Given the description of an element on the screen output the (x, y) to click on. 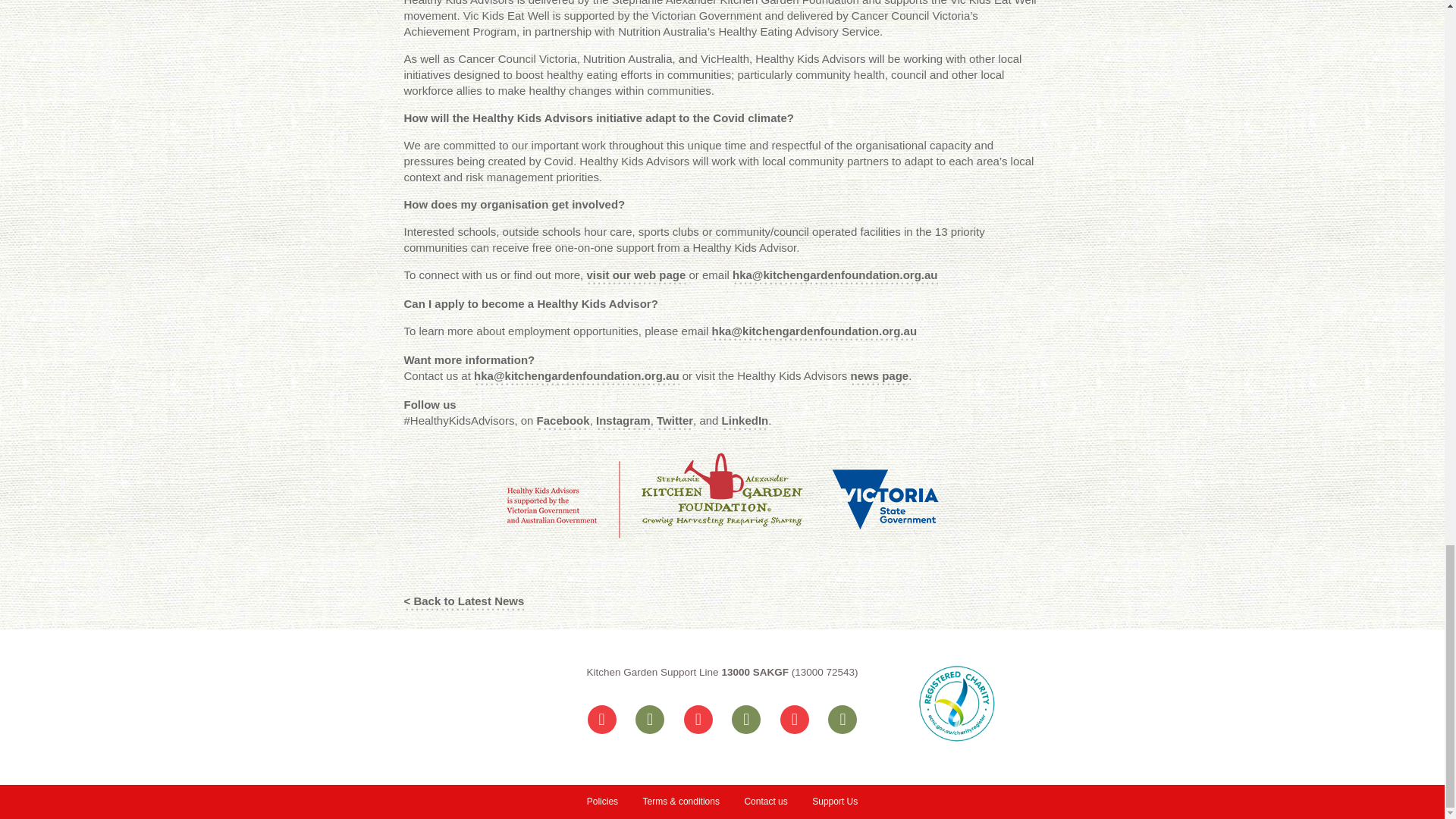
news page (879, 375)
Instagram (622, 420)
Facebook (563, 420)
Twitter (674, 420)
LinkedIn (745, 420)
Support Us (834, 802)
Contact us (765, 802)
visit our web page (635, 275)
Policies (602, 802)
